Given the description of an element on the screen output the (x, y) to click on. 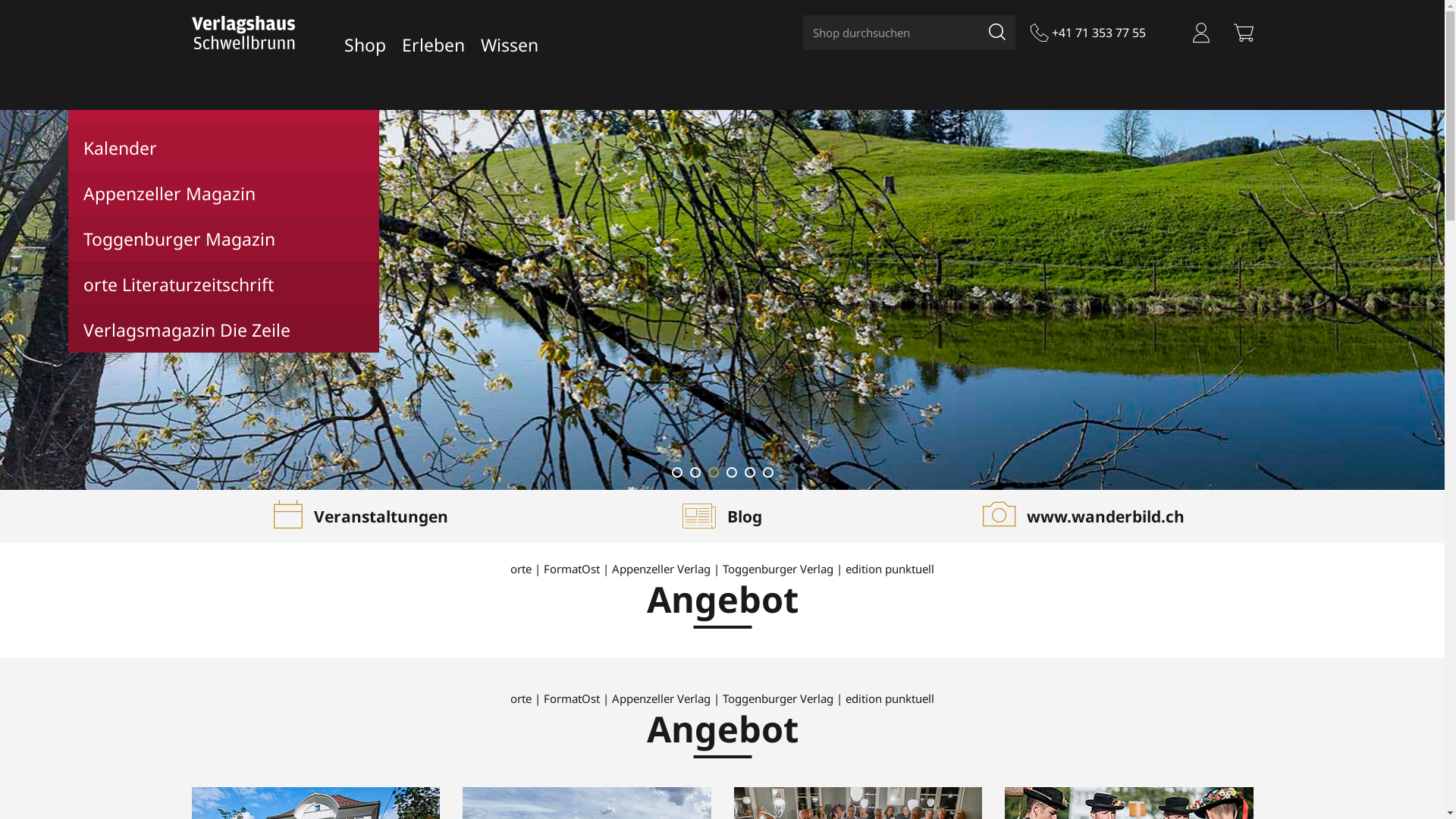
Verlagsmagazin Die Zeile Element type: text (223, 329)
orte Element type: text (520, 698)
Kalender Element type: text (223, 147)
Toggenburger Verlag Element type: text (777, 568)
FormatOst Element type: text (571, 698)
Magazine Verlagshaus Schwellbrunn Element type: hover (586, 795)
Verlagshaus Schwellbrunn Element type: hover (315, 795)
orte Literaturzeitschrift Element type: text (223, 284)
Suche Element type: hover (996, 32)
Shop Element type: text (368, 43)
orte Element type: text (520, 568)
Veranstaltungen Verlagshaus Schwellbrunn Element type: hover (858, 795)
edition punktuell Element type: text (889, 568)
Toggenburger Magazin Element type: text (223, 238)
edition punktuell Element type: text (889, 698)
Veranstaltungen Element type: text (360, 516)
Erleben Element type: text (436, 43)
Appenzeller Verlag Element type: text (660, 698)
FormatOst Element type: text (571, 568)
Blog Element type: text (722, 516)
Wissen Element type: text (507, 43)
www.wanderbild.ch Element type: text (1083, 516)
Appenzeller Verlag Element type: text (660, 568)
Appenzeller Magazin Element type: text (223, 193)
Toggenburger Verlag Element type: text (777, 698)
+41 71 353 77 55 Element type: text (1088, 32)
wanderbild.ch - Bilder suchen und finden Element type: hover (1128, 795)
